Given the description of an element on the screen output the (x, y) to click on. 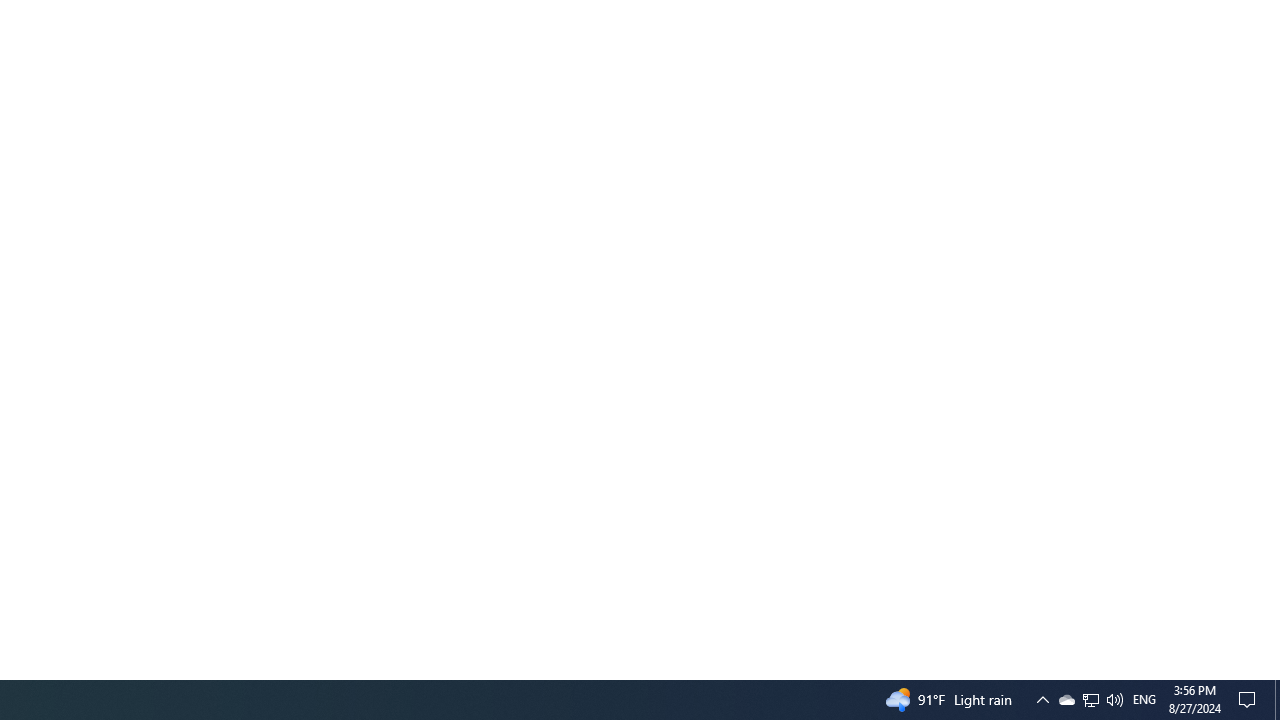
Action Center, No new notifications (1250, 699)
User Promoted Notification Area (1090, 699)
Notification Chevron (1042, 699)
Show desktop (1091, 699)
Tray Input Indicator - English (United States) (1277, 699)
Q2790: 100% (1144, 699)
